Given the description of an element on the screen output the (x, y) to click on. 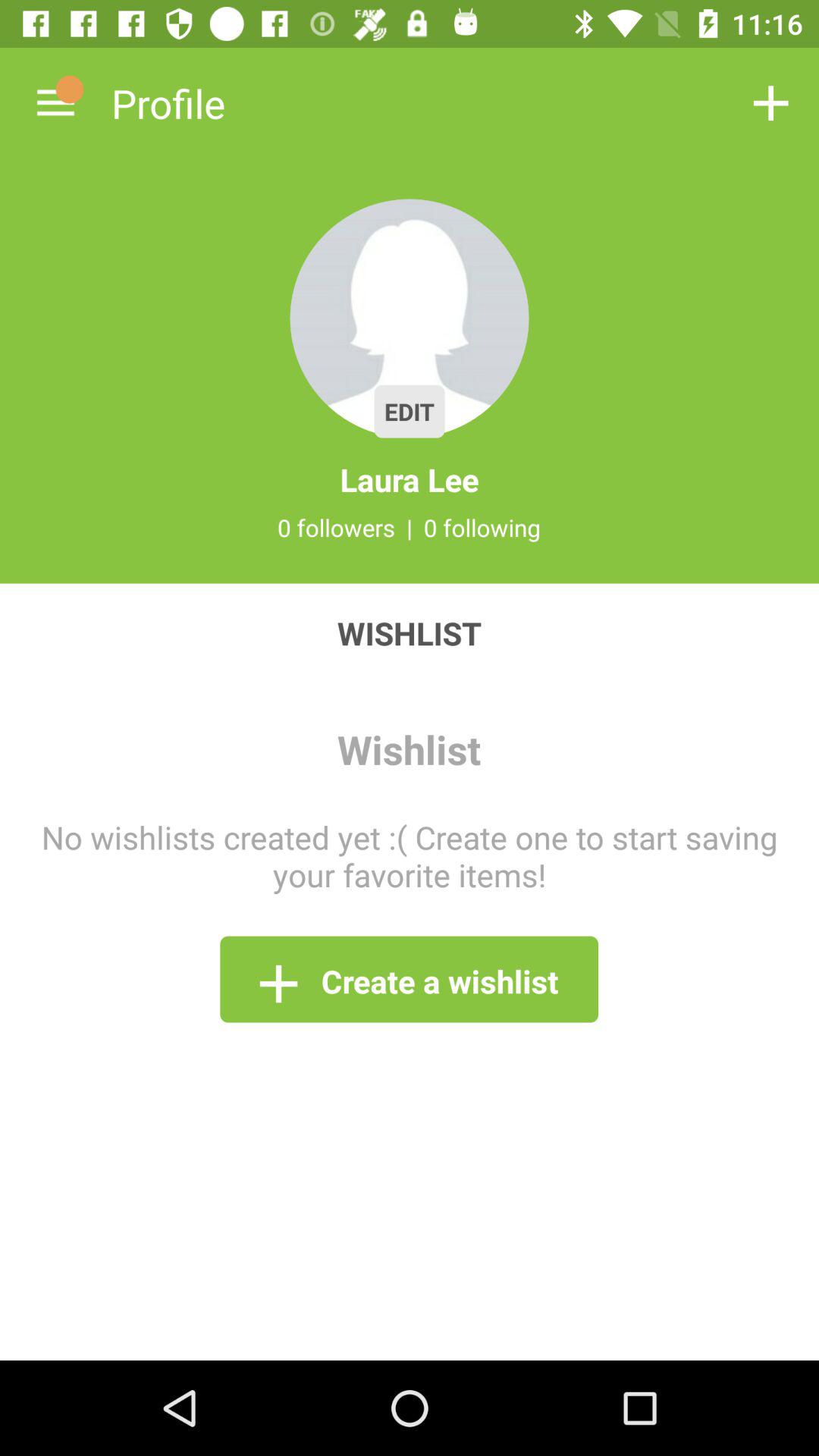
launch the icon next to 0 followers item (409, 527)
